Given the description of an element on the screen output the (x, y) to click on. 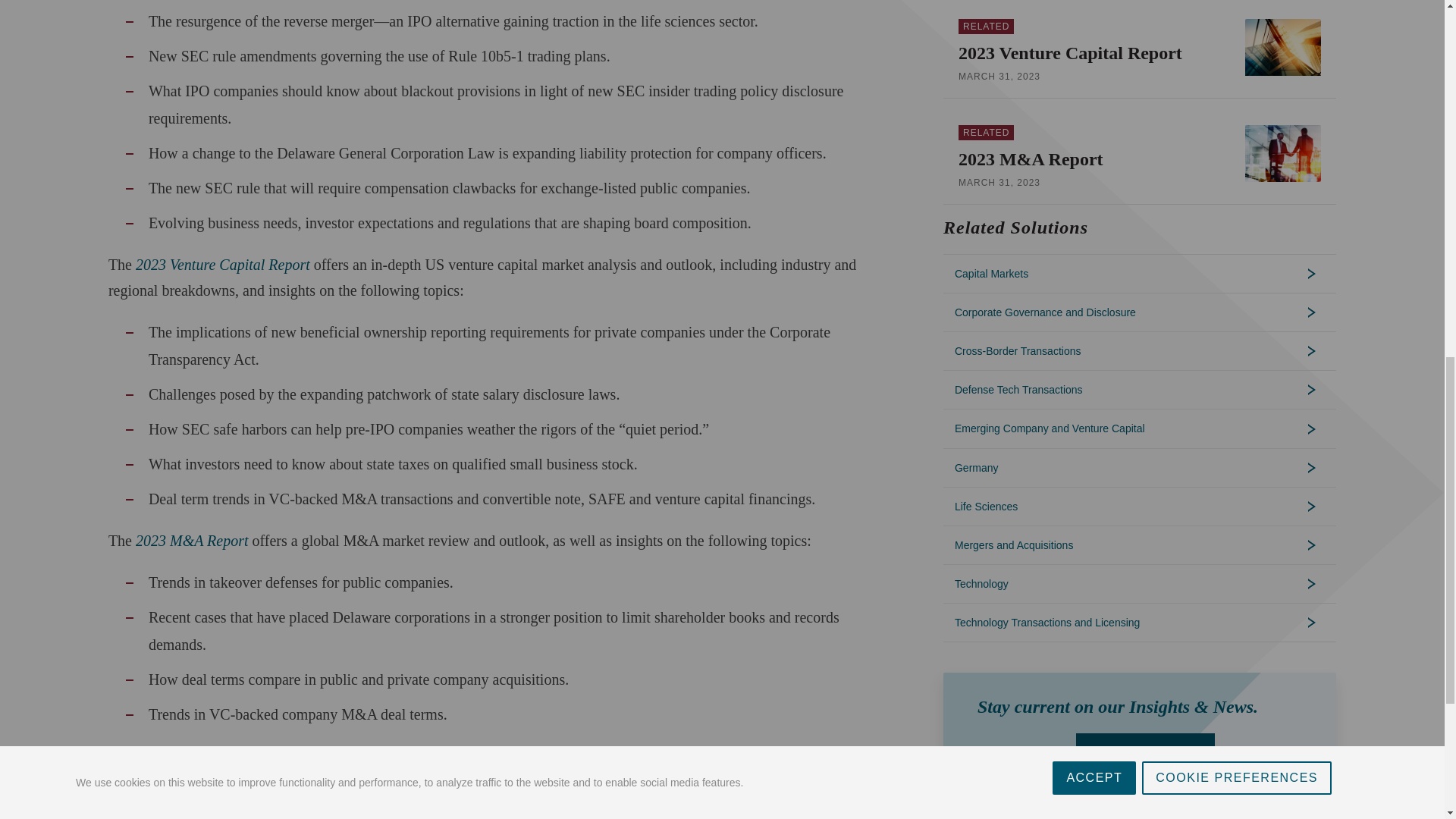
Corporate Governance and Disclosure (1139, 312)
2023 Venture Capital Report (1097, 52)
Capital Markets (1139, 273)
